Given the description of an element on the screen output the (x, y) to click on. 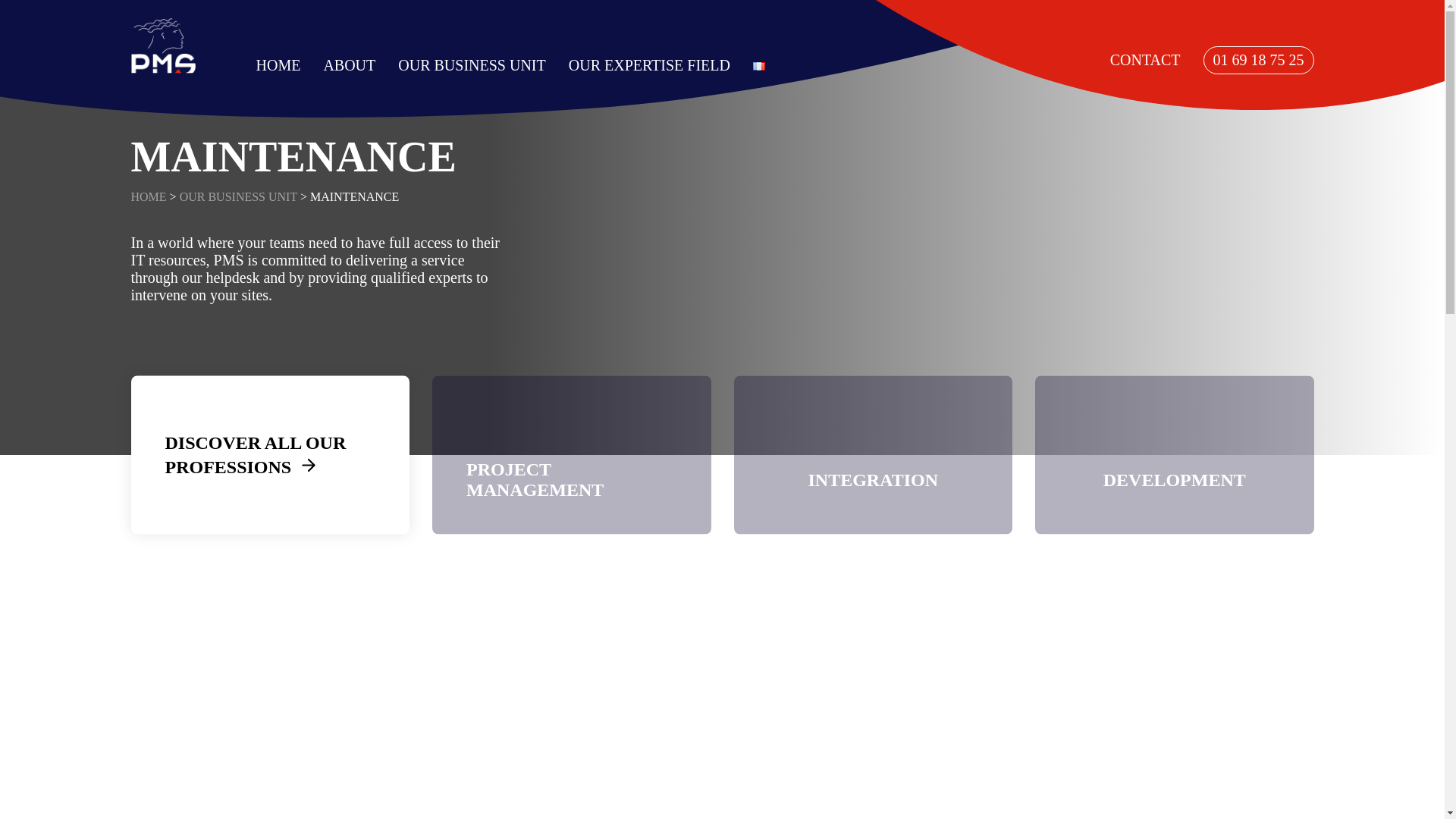
ABOUT (349, 65)
OUR EXPERTISE FIELD (649, 65)
OUR BUSINESS UNIT (238, 195)
OUR BUSINESS UNIT (470, 65)
01 69 18 75 25 (1258, 60)
HOME (278, 65)
CONTACT (1144, 60)
HOME (148, 195)
